Given the description of an element on the screen output the (x, y) to click on. 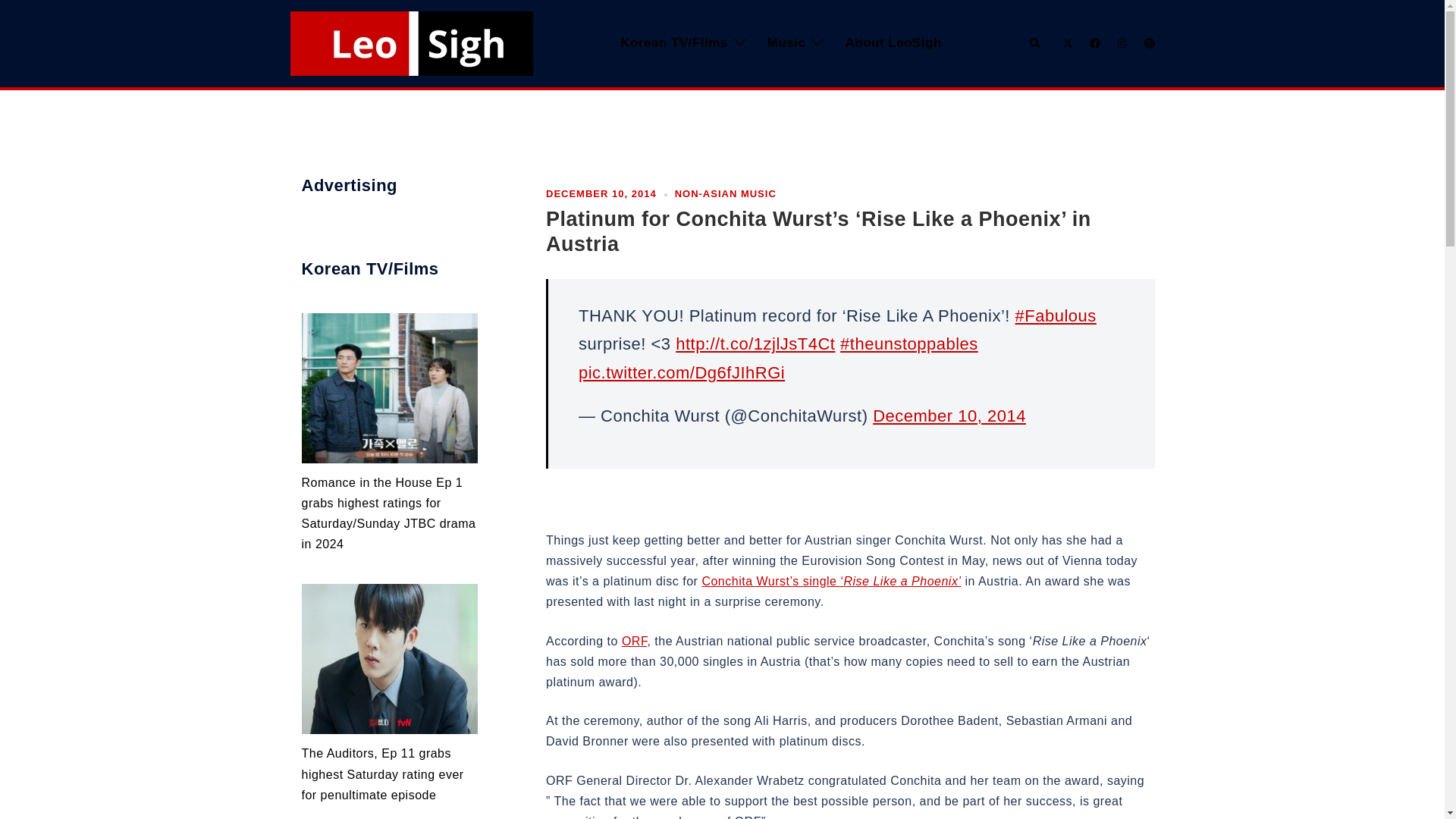
December 10, 2014 (949, 415)
Leo Sigh (410, 42)
Search (1035, 42)
NON-ASIAN MUSIC (725, 193)
Music (786, 43)
DECEMBER 10, 2014 (601, 193)
About LeoSigh (892, 43)
